Given the description of an element on the screen output the (x, y) to click on. 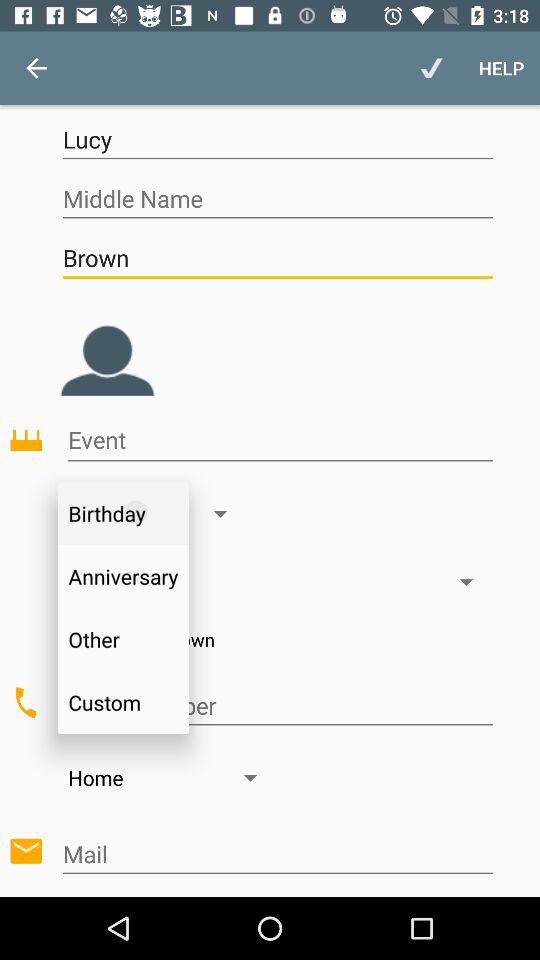
scroll until the help item (501, 67)
